Given the description of an element on the screen output the (x, y) to click on. 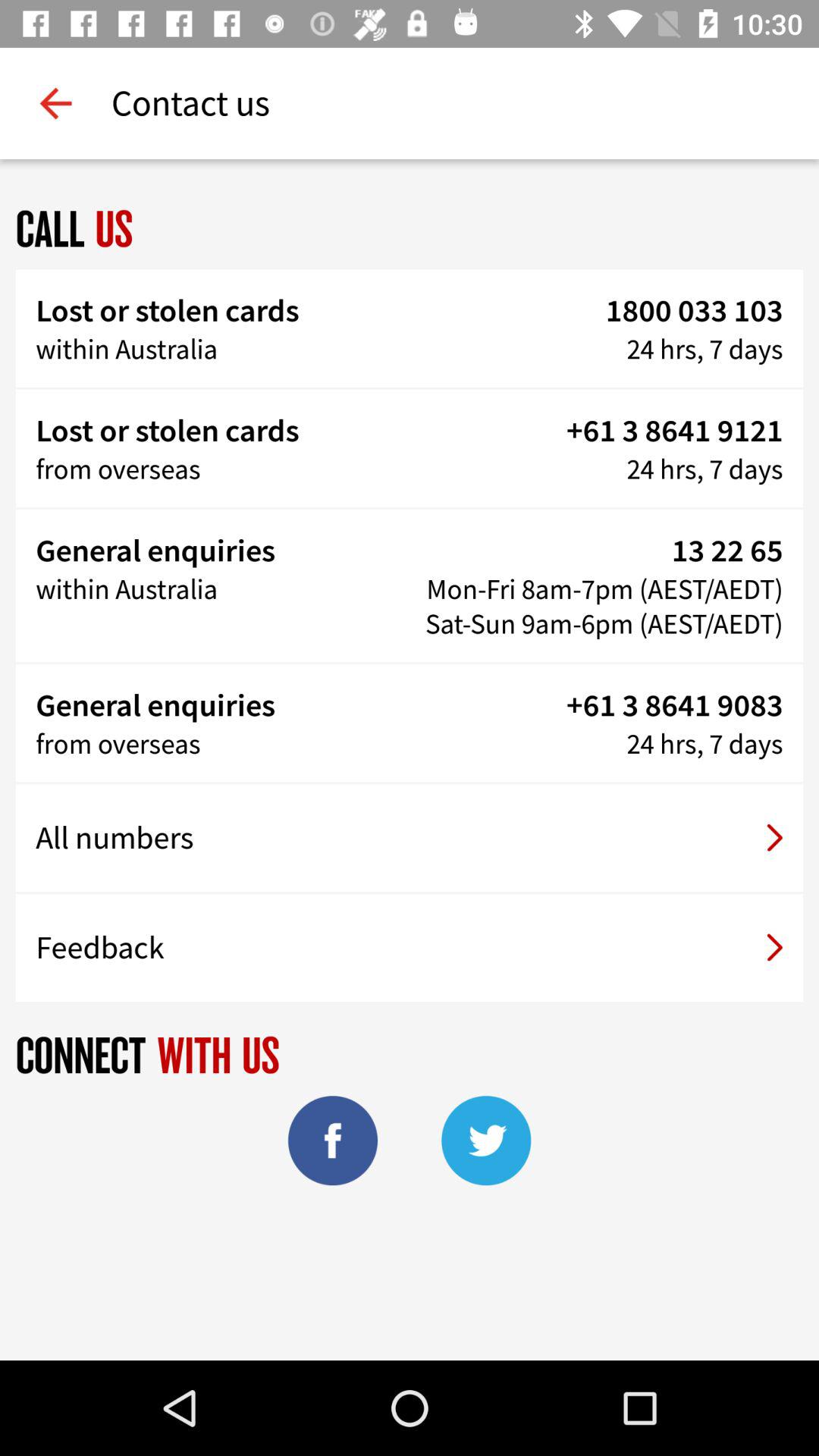
tap icon above call us item (55, 103)
